Given the description of an element on the screen output the (x, y) to click on. 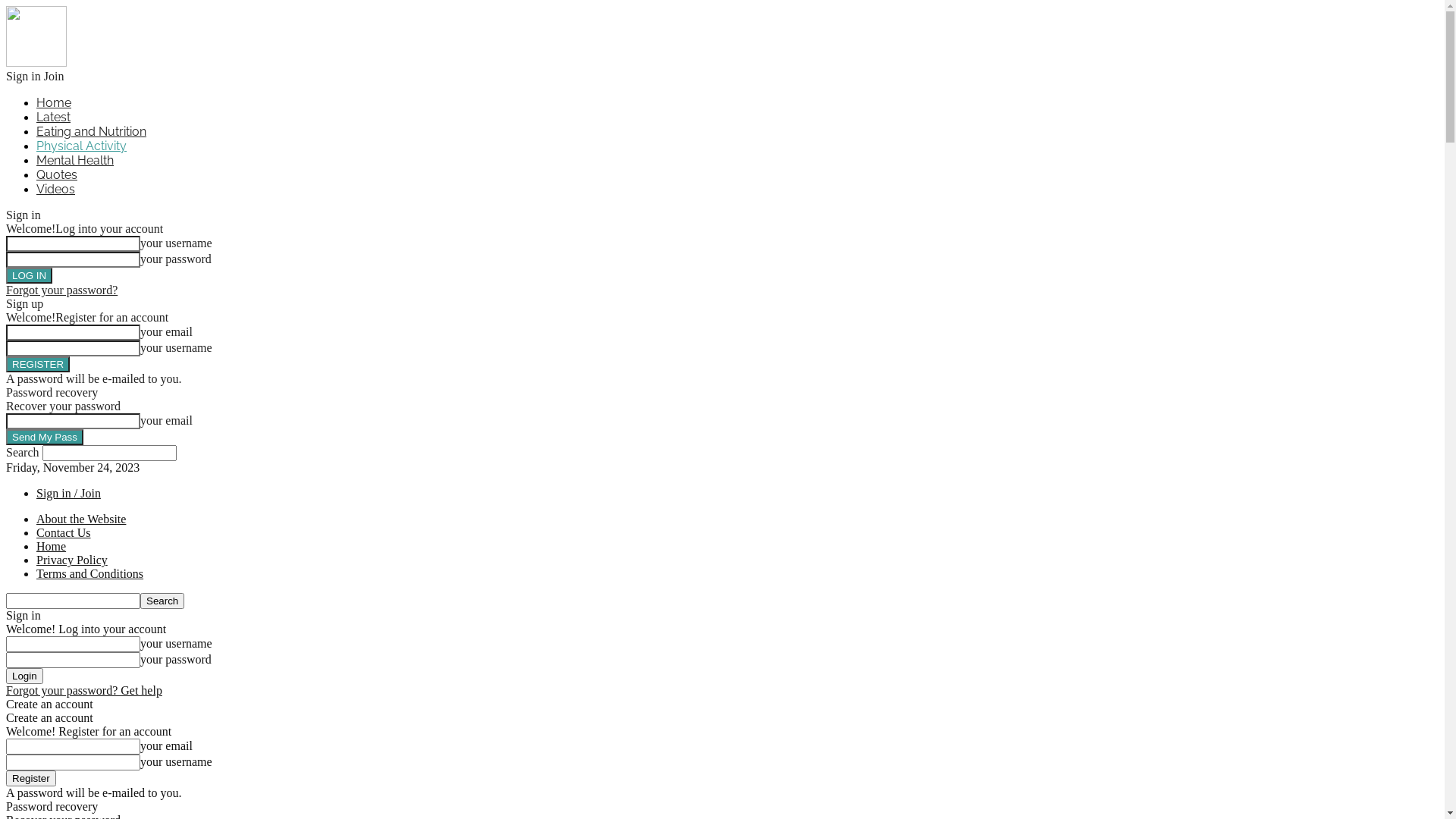
Search Element type: text (162, 600)
About the Website Element type: text (80, 518)
Latest Element type: text (53, 116)
Forgot your password? Get help Element type: text (84, 690)
Forgot your password? Element type: text (61, 289)
Home Element type: text (53, 102)
Mental Health Element type: text (74, 160)
Terms and Conditions Element type: text (89, 573)
Sign in / Join Element type: text (68, 492)
Sign in Element type: text (23, 75)
Quotes Element type: text (56, 174)
Privacy Policy Element type: text (71, 559)
Join Element type: text (53, 75)
Eating and Nutrition Element type: text (91, 131)
Home Element type: text (50, 545)
Create an account Element type: text (49, 703)
Physical Activity Element type: text (81, 145)
Videos Element type: text (55, 189)
Contact Us Element type: text (63, 532)
